Given the description of an element on the screen output the (x, y) to click on. 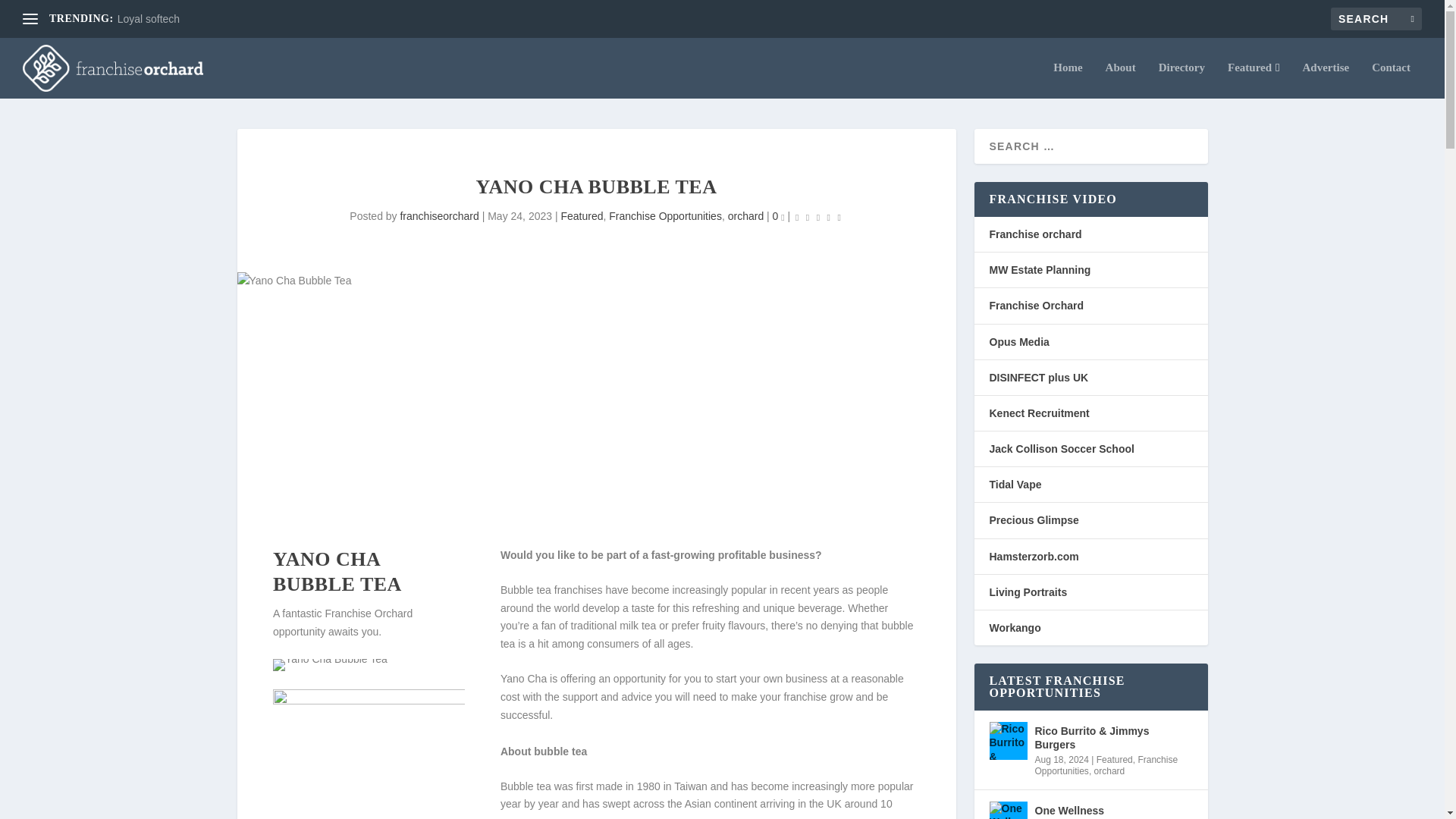
Posts by franchiseorchard (438, 215)
Directory (1181, 79)
franchiseorchard (438, 215)
Search for: (1376, 18)
Advertise (1326, 79)
orchard (745, 215)
Contact (1390, 79)
Featured (581, 215)
0 (778, 215)
Loyal softech (148, 19)
